Given the description of an element on the screen output the (x, y) to click on. 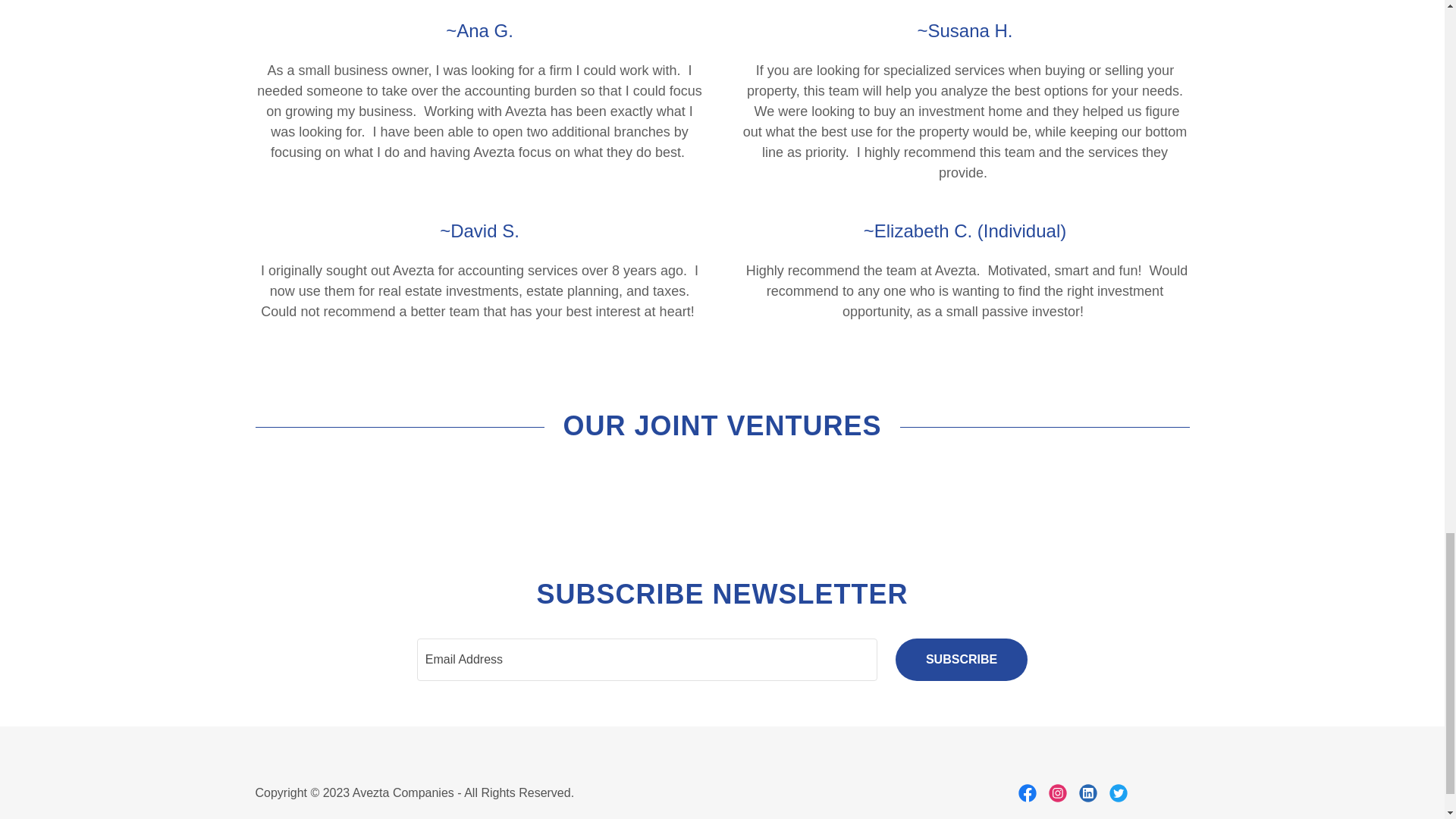
SUBSCRIBE (961, 659)
